Given the description of an element on the screen output the (x, y) to click on. 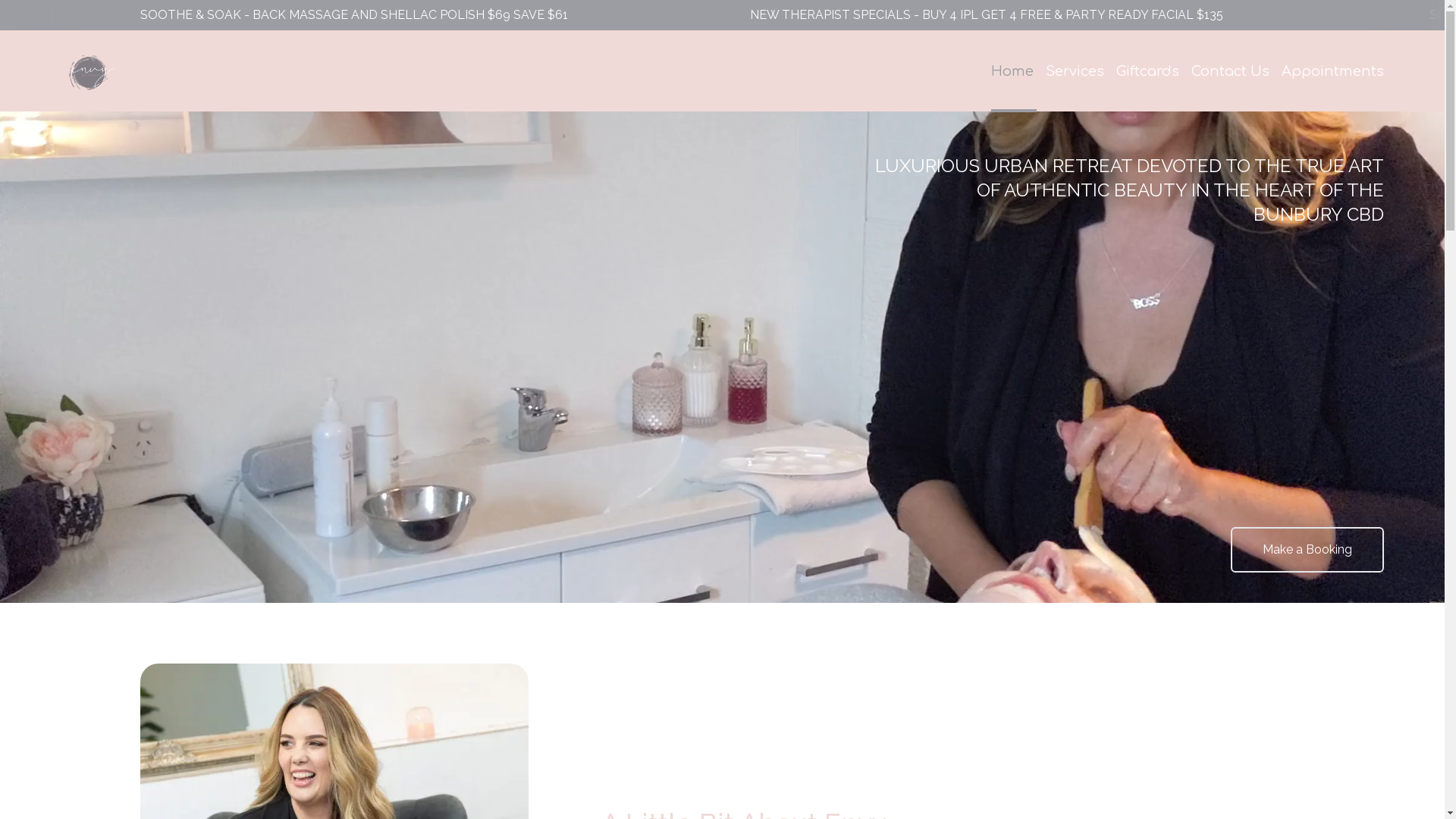
Make a Booking Element type: text (1306, 549)
Home Element type: text (1012, 70)
Giftcards Element type: text (1147, 70)
Appointments Element type: text (1332, 70)
Services Element type: text (1074, 70)
Contact Us Element type: text (1230, 70)
SOOTHE & SOAK - BACK MASSAGE AND SHELLAC POLISH $69 SAVE $61 Element type: text (1019, 15)
